Given the description of an element on the screen output the (x, y) to click on. 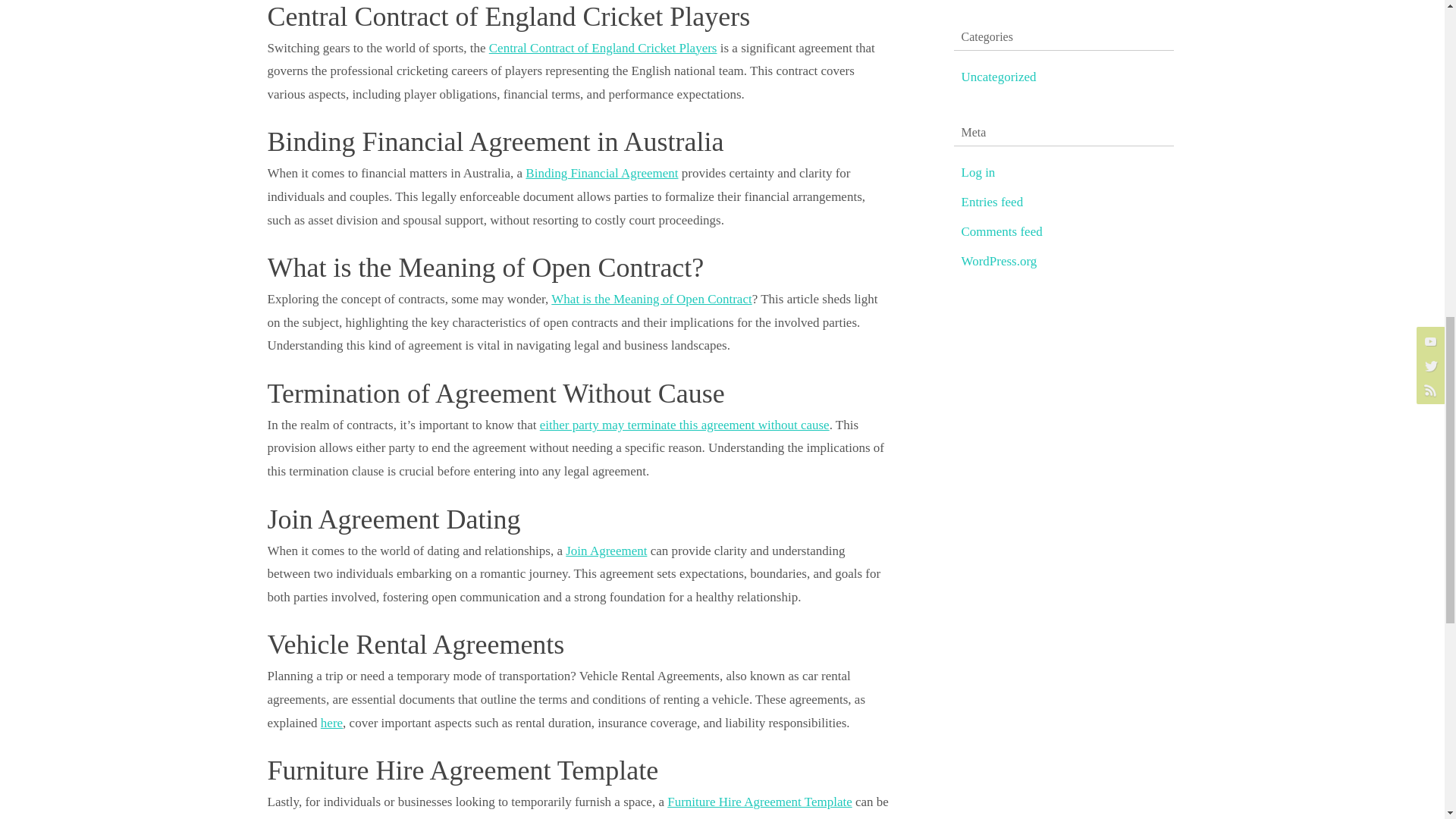
Central Contract of England Cricket Players (603, 47)
What is the Meaning of Open Contract (651, 298)
Join Agreement (606, 550)
Binding Financial Agreement (601, 173)
here (331, 722)
Furniture Hire Agreement Template (758, 801)
either party may terminate this agreement without cause (684, 424)
